Given the description of an element on the screen output the (x, y) to click on. 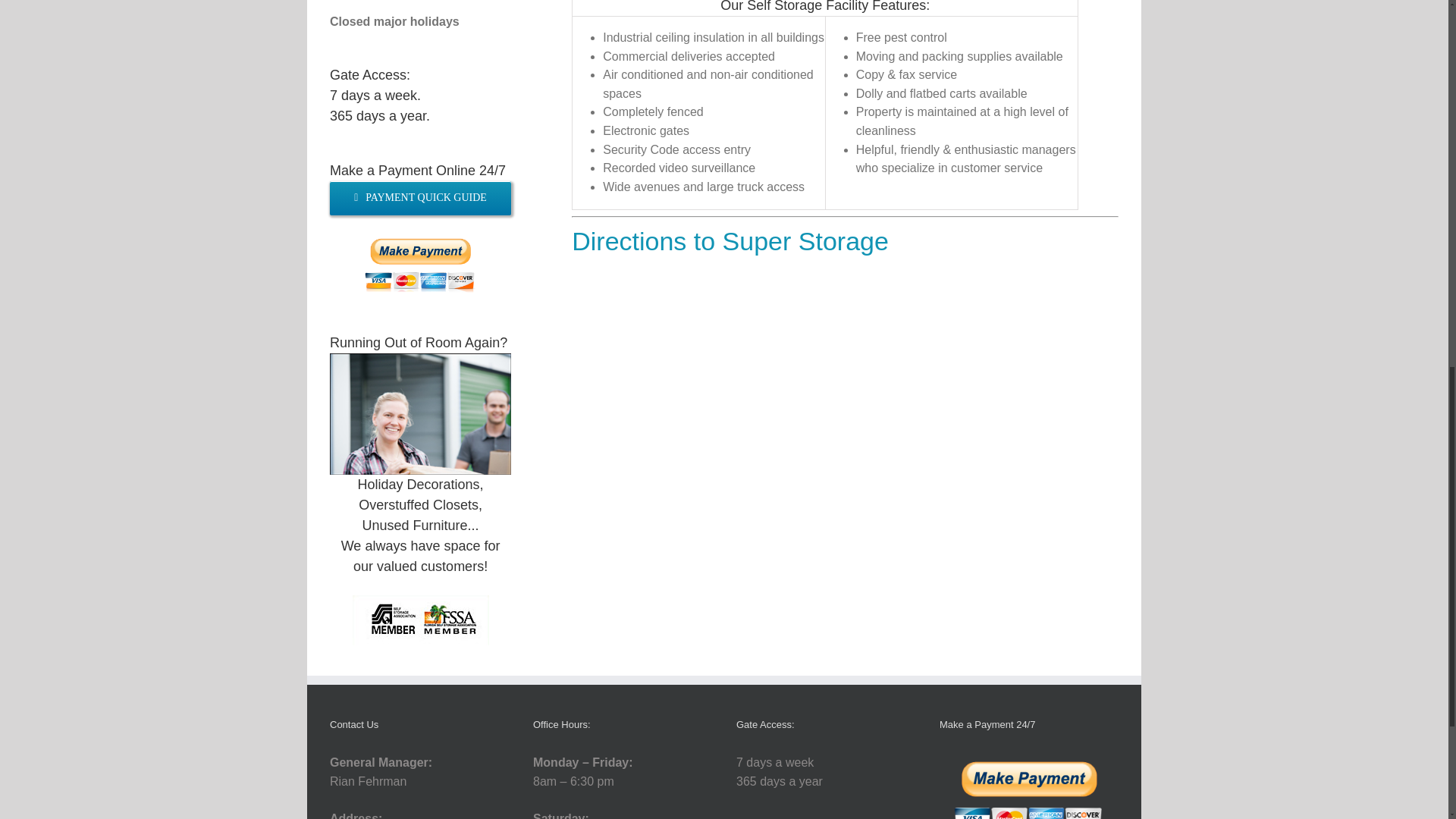
PAYMENT QUICK GUIDE (420, 196)
